Given the description of an element on the screen output the (x, y) to click on. 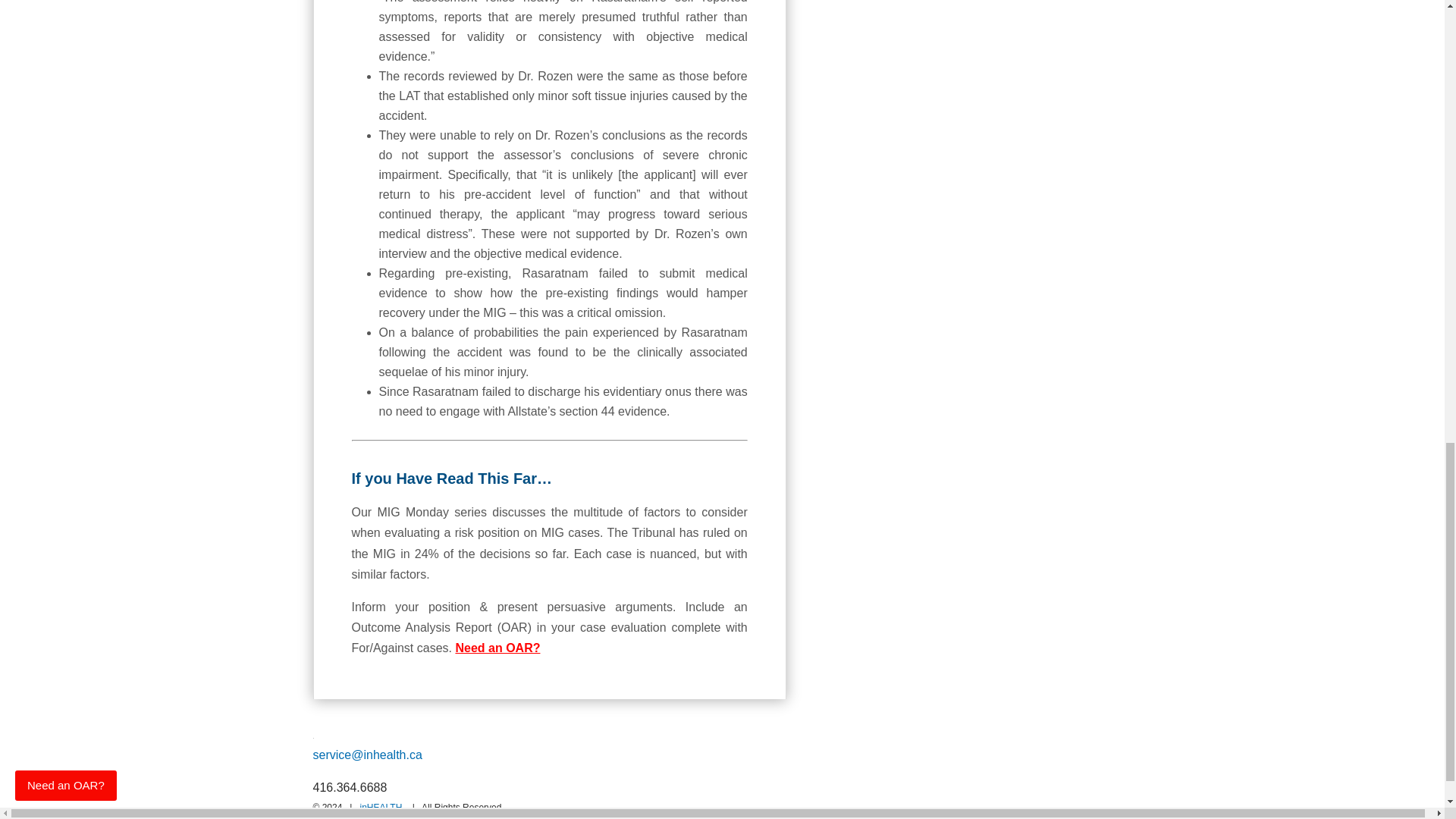
Need an OAR? (497, 647)
